Given the description of an element on the screen output the (x, y) to click on. 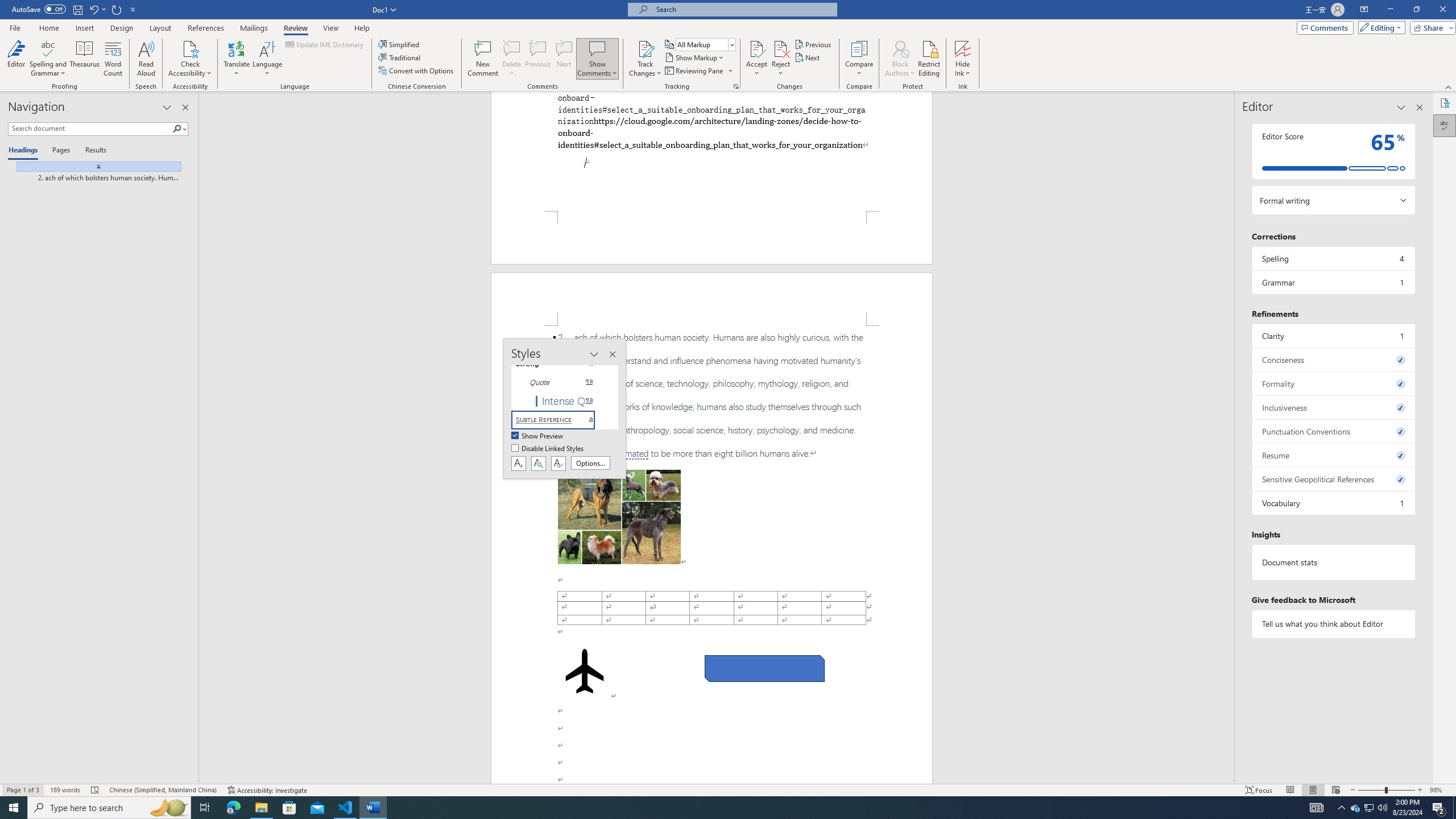
Reject and Move to Next (780, 48)
Language Chinese (Simplified, Mainland China) (162, 790)
Conciseness, 0 issues. Press space or enter to review items. (1333, 359)
Read Aloud (145, 58)
Results (91, 150)
Update IME Dictionary... (324, 44)
Clarity, 1 issue. Press space or enter to review items. (1333, 335)
